Given the description of an element on the screen output the (x, y) to click on. 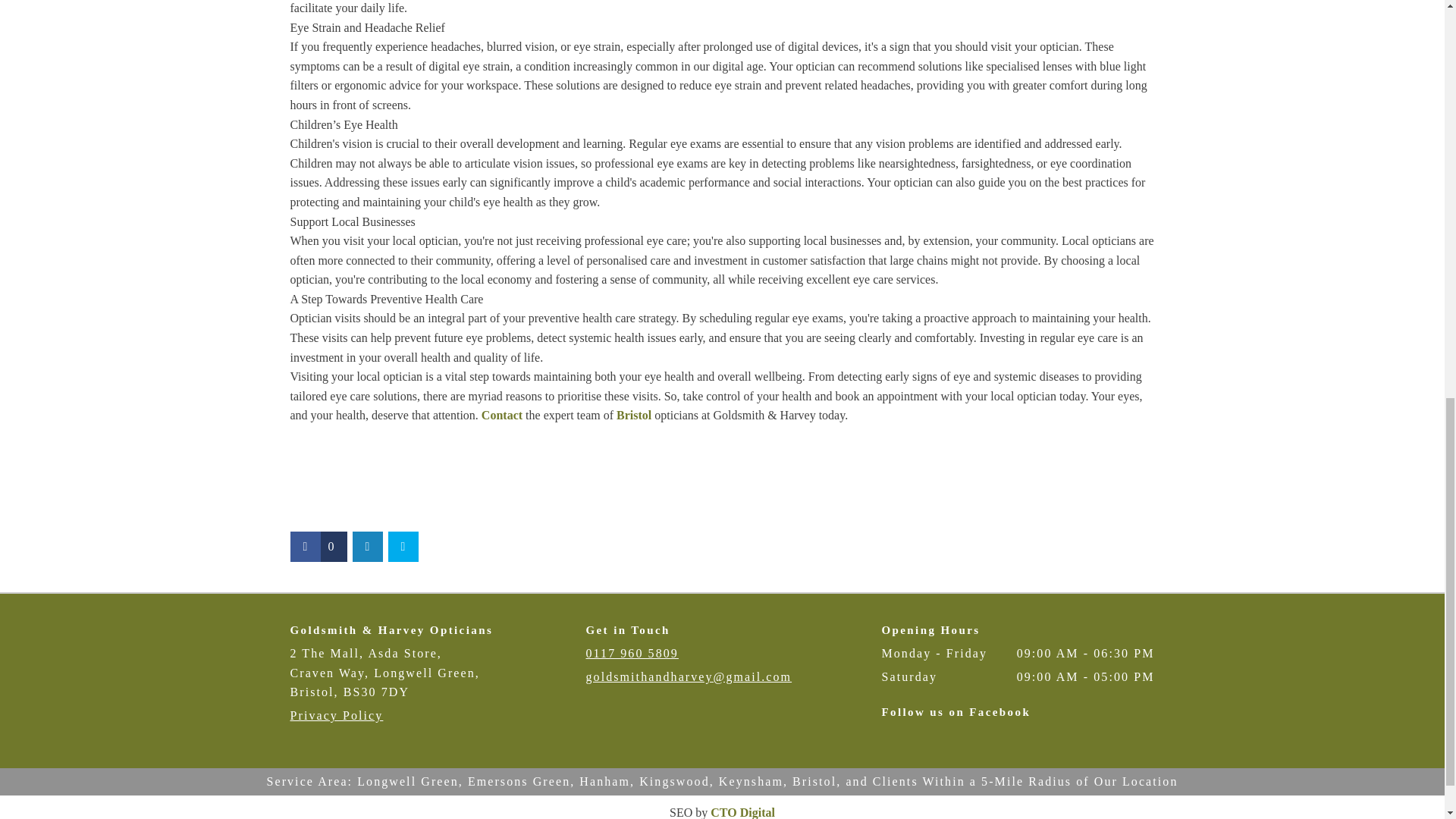
0117 960 5809 (631, 653)
Bristol (632, 414)
Contact (501, 414)
Privacy Policy (335, 715)
0 (317, 546)
CTO Digital (742, 812)
